Given the description of an element on the screen output the (x, y) to click on. 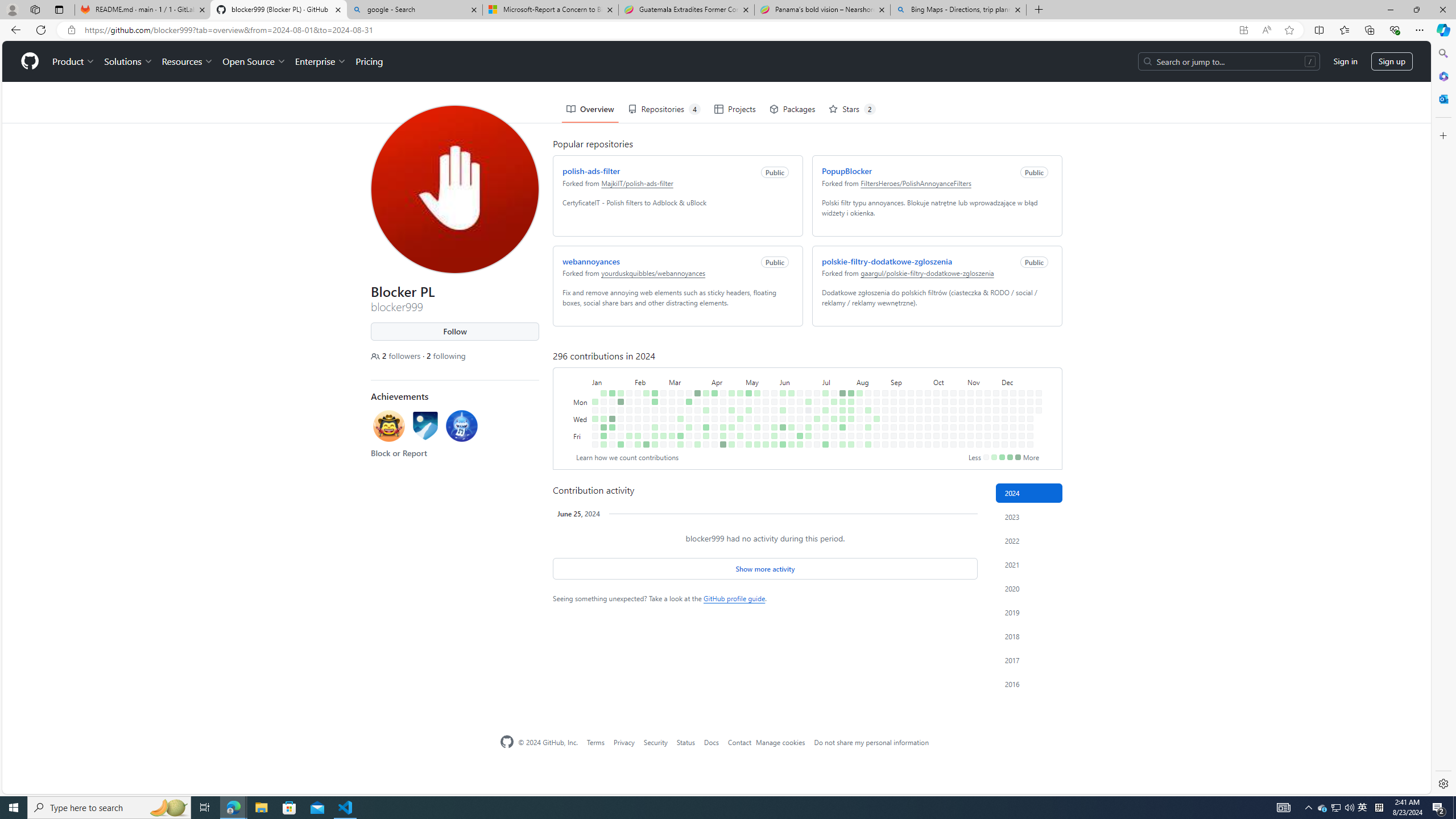
2 contributions on April 23rd. (729, 369)
Contact (739, 741)
No contributions on December 20th. (1022, 435)
No contributions on August 23rd. (873, 394)
No contributions on May 28th. (771, 369)
6 contributions on May 5th. (746, 351)
No contributions on March 25th. (694, 360)
No contributions on October 15th. (942, 369)
Solutions (126, 20)
Security (655, 741)
2022 (1028, 540)
